Given the description of an element on the screen output the (x, y) to click on. 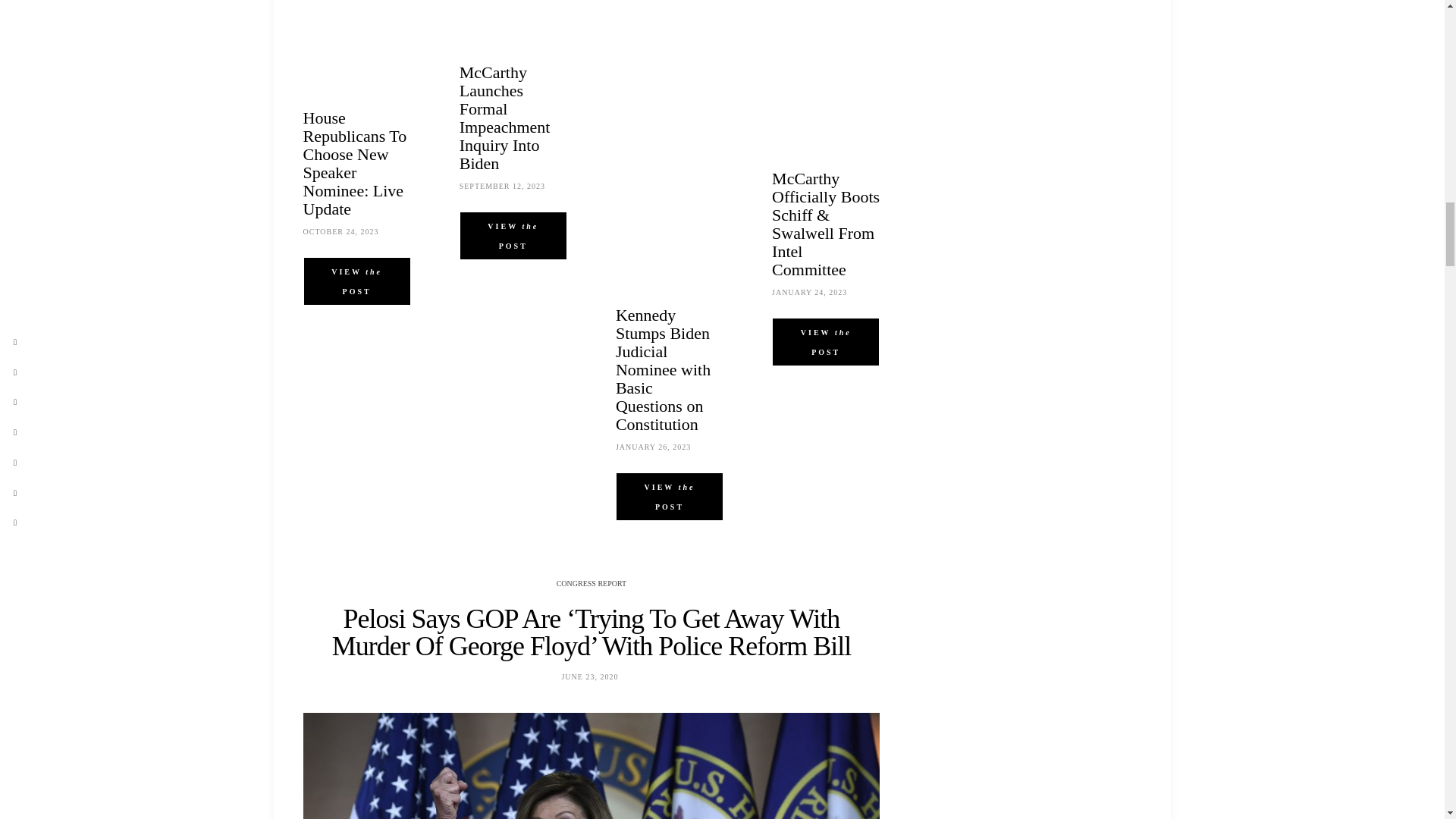
House Republicans To Choose New Speaker Nominee: Live Update (354, 163)
